Given the description of an element on the screen output the (x, y) to click on. 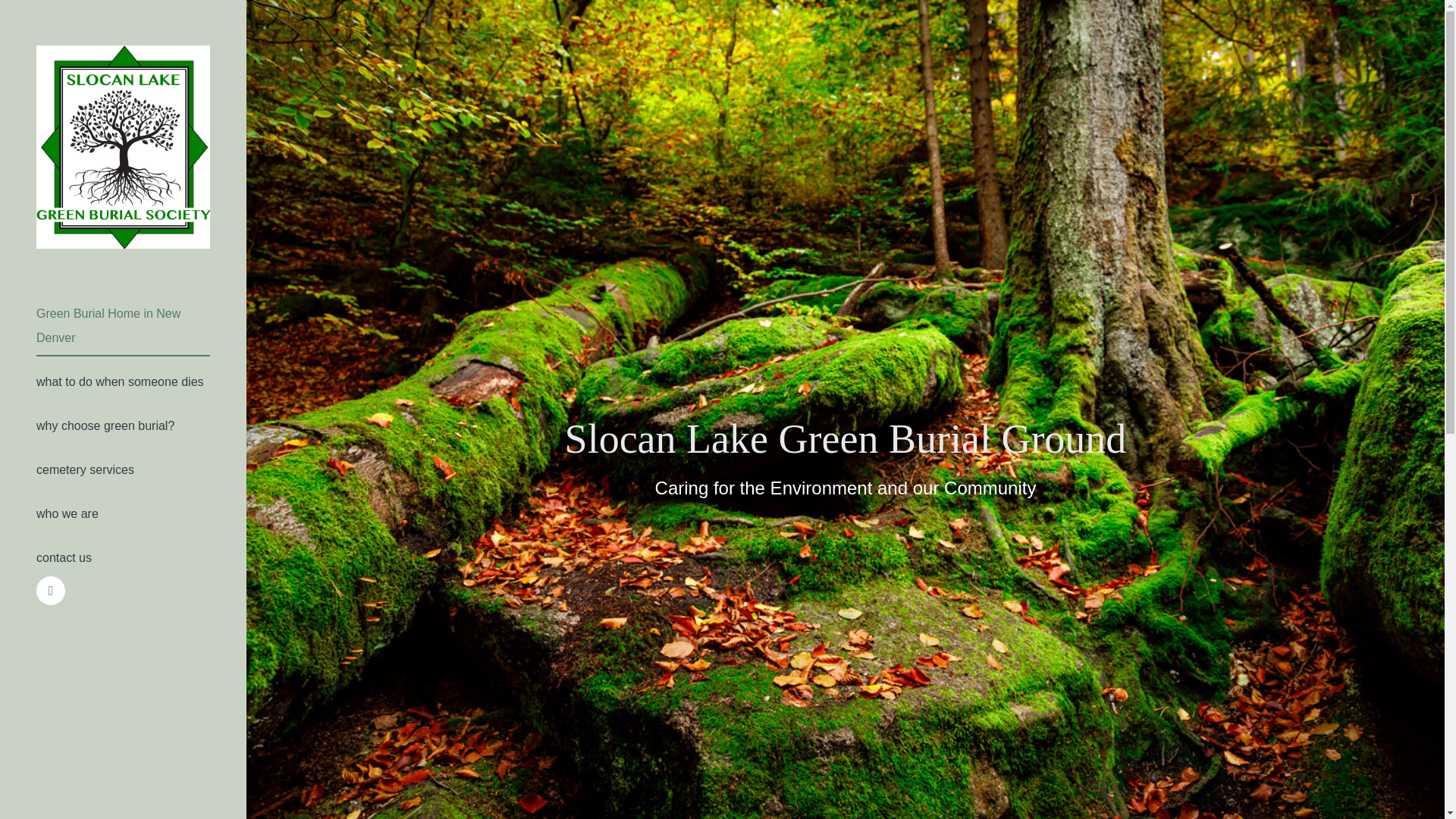
who we are (122, 514)
what to do when someone dies (122, 382)
why choose green burial? (122, 426)
Green Burial Home in New Denver (122, 326)
cemetery services (122, 470)
contact us (122, 558)
